Given the description of an element on the screen output the (x, y) to click on. 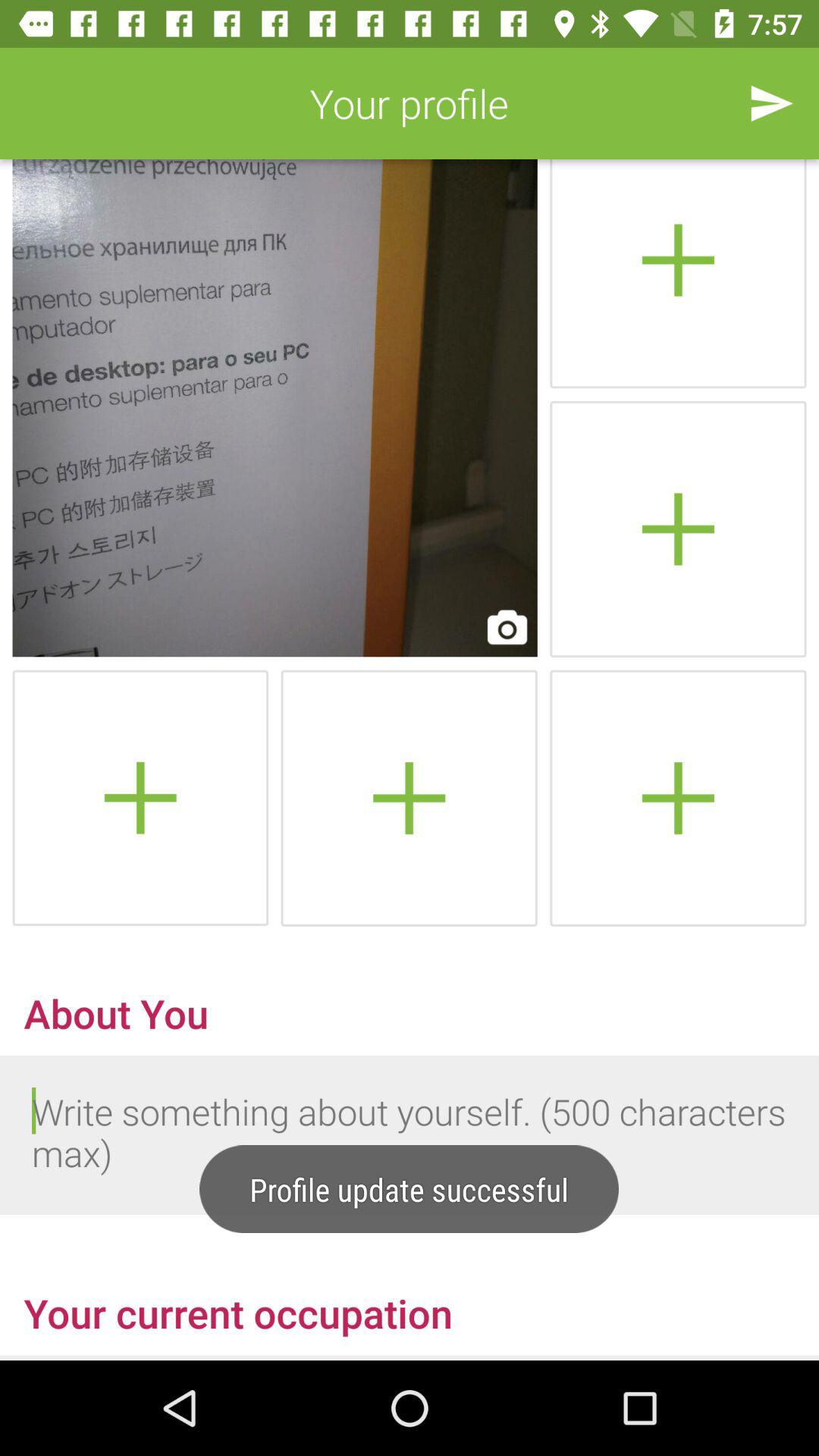
profile picture selection (274, 407)
